Given the description of an element on the screen output the (x, y) to click on. 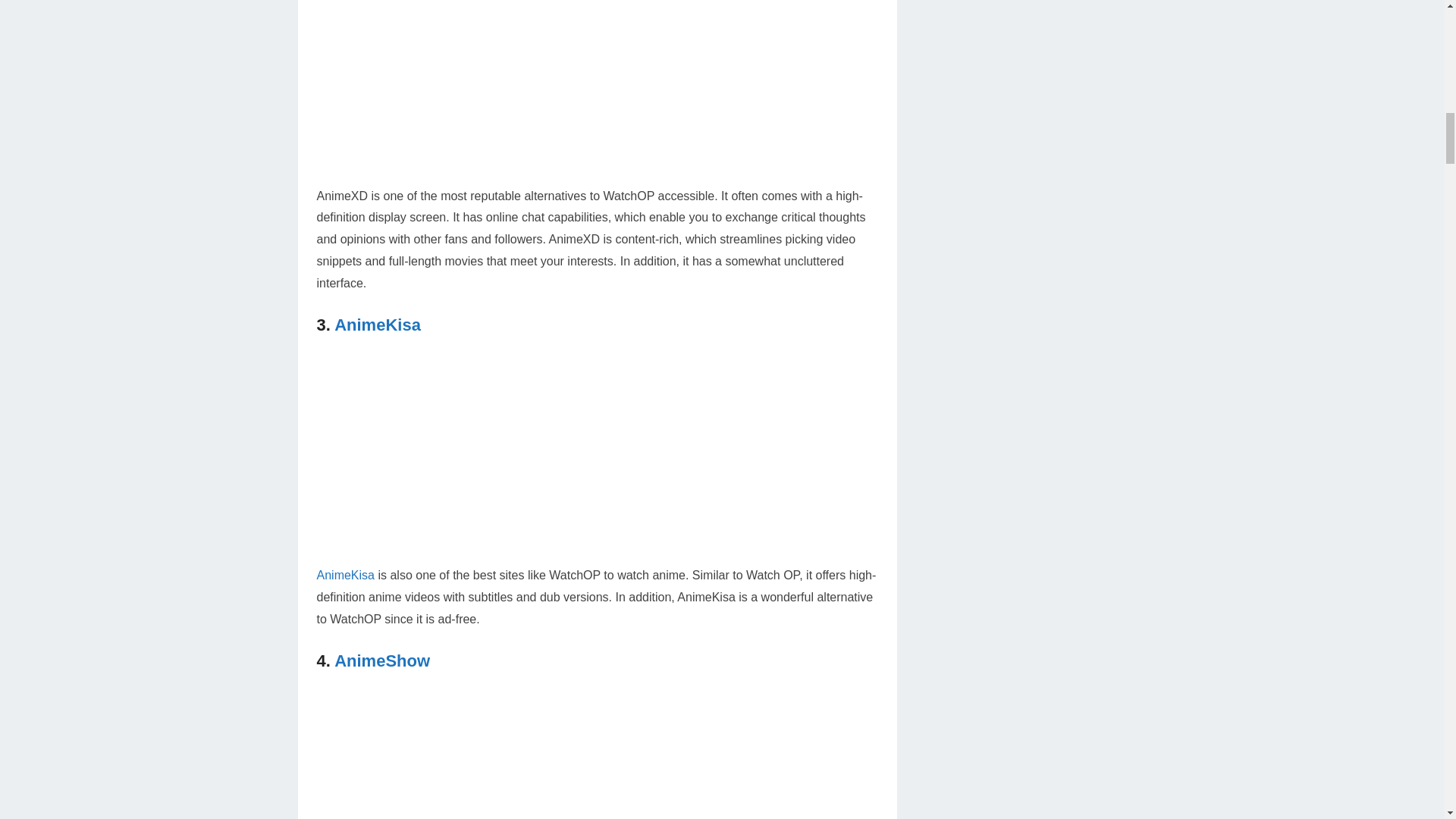
AnimeKisa (377, 324)
AnimeKisa (345, 574)
AnimeShow (381, 660)
